Given the description of an element on the screen output the (x, y) to click on. 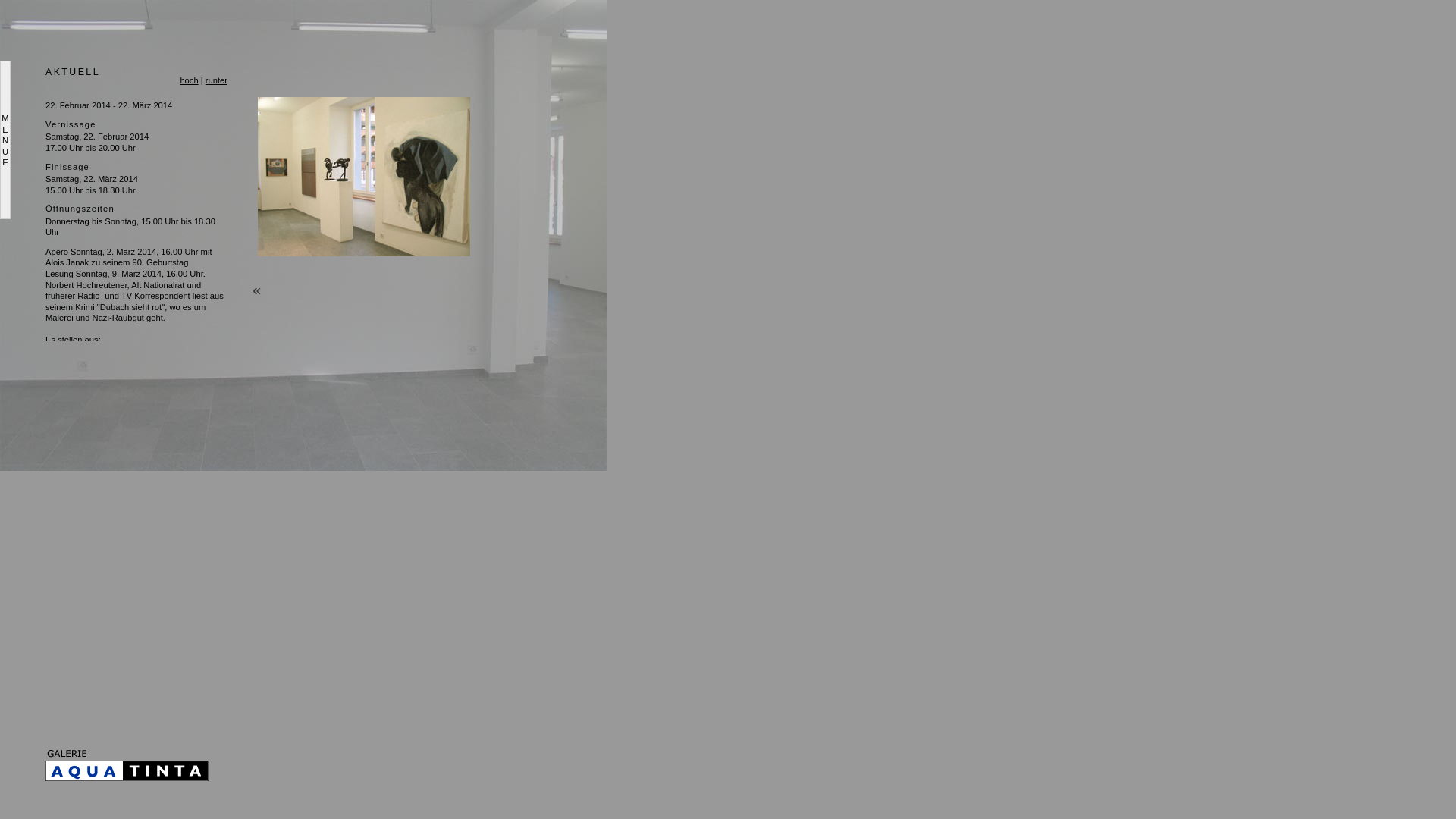
runter Element type: text (216, 79)
hoch Element type: text (188, 79)
